Given the description of an element on the screen output the (x, y) to click on. 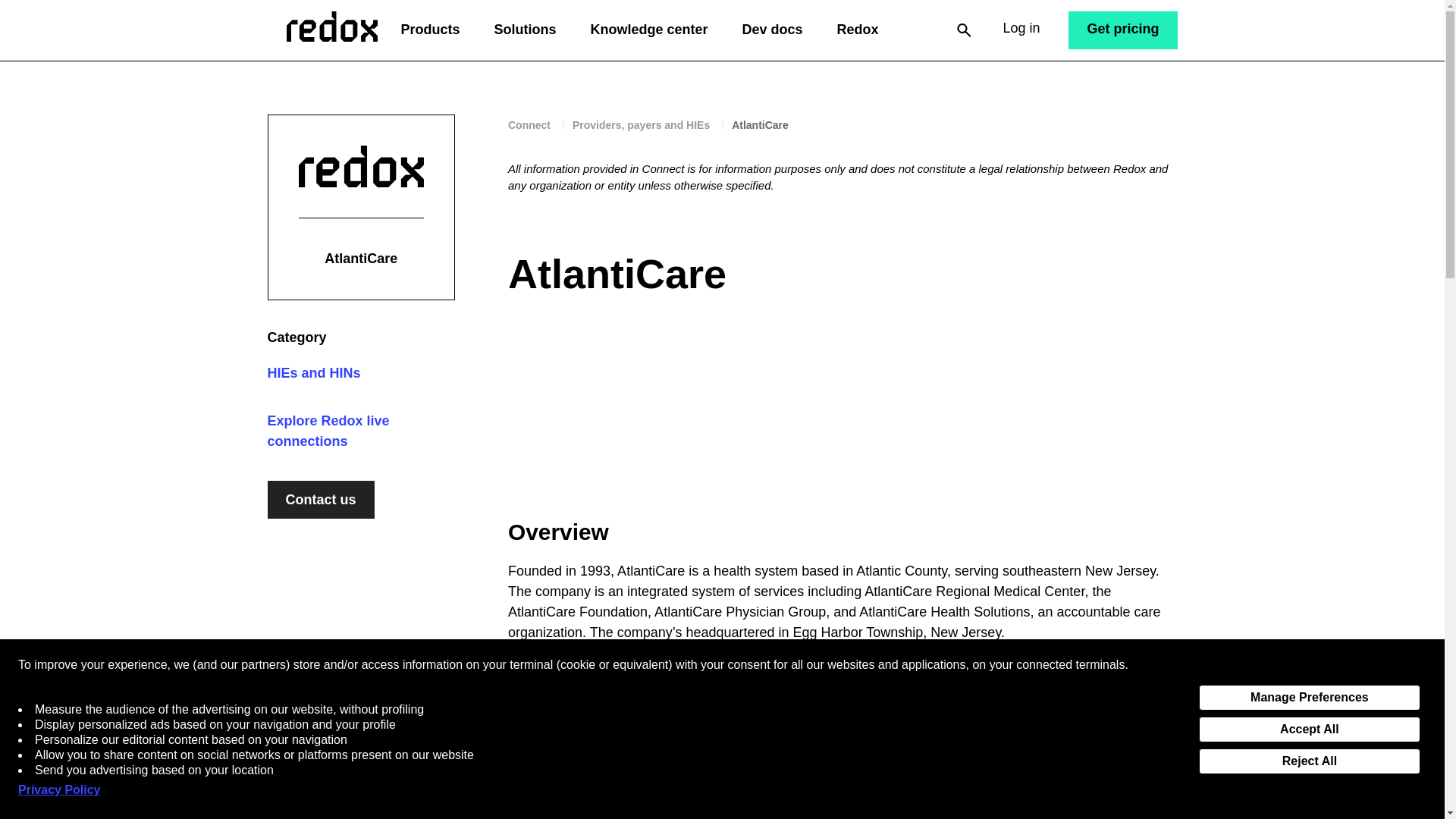
Accept All (1309, 728)
Privacy Policy (58, 789)
Reject All (1309, 760)
Manage Preferences (1309, 696)
Dev docs (771, 30)
Knowledge center (648, 30)
Products (430, 30)
Solutions (524, 30)
